Given the description of an element on the screen output the (x, y) to click on. 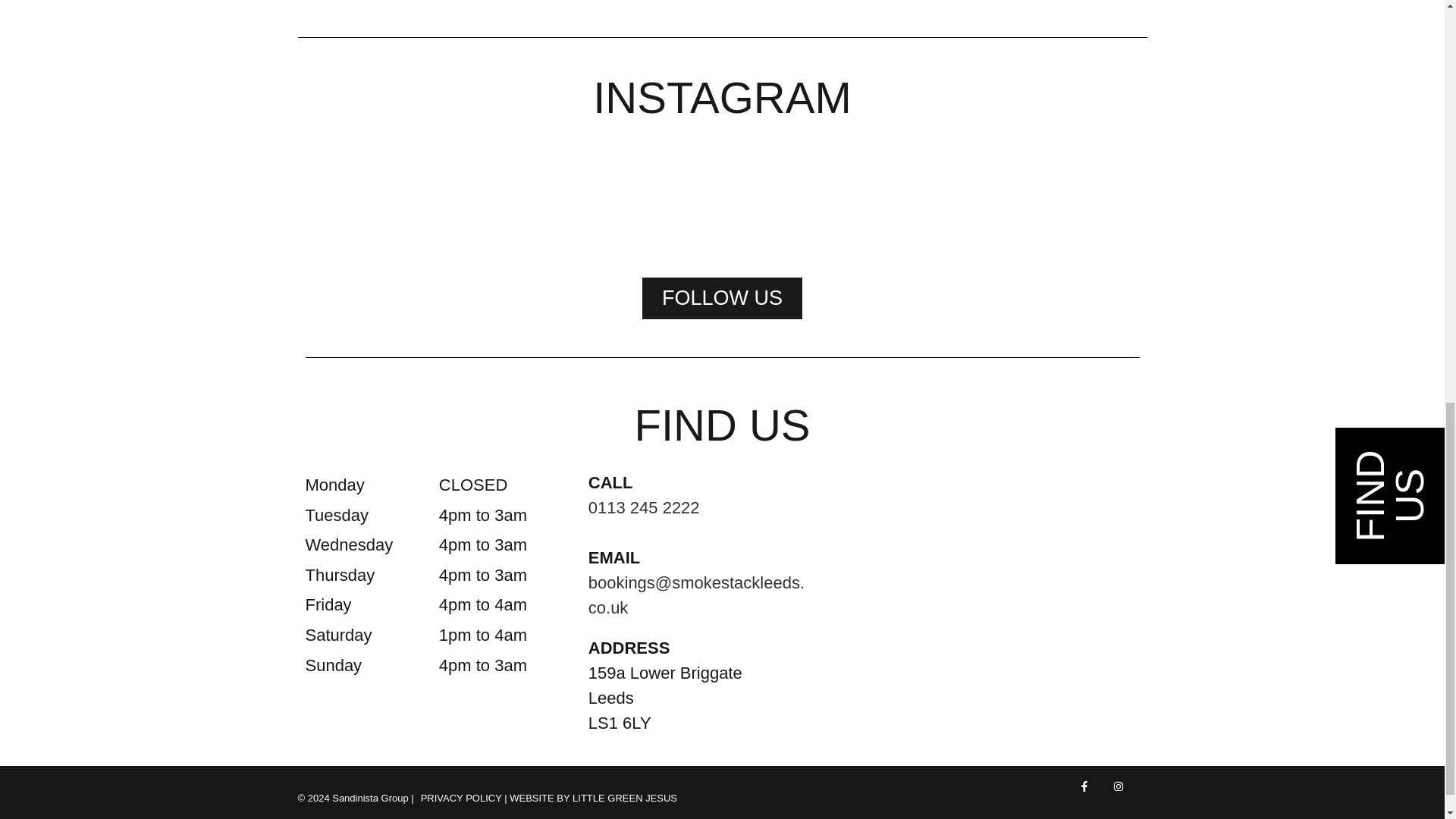
Smokestack, 159A Lower Briggate, Leeds LS1 6LY (977, 595)
